Given the description of an element on the screen output the (x, y) to click on. 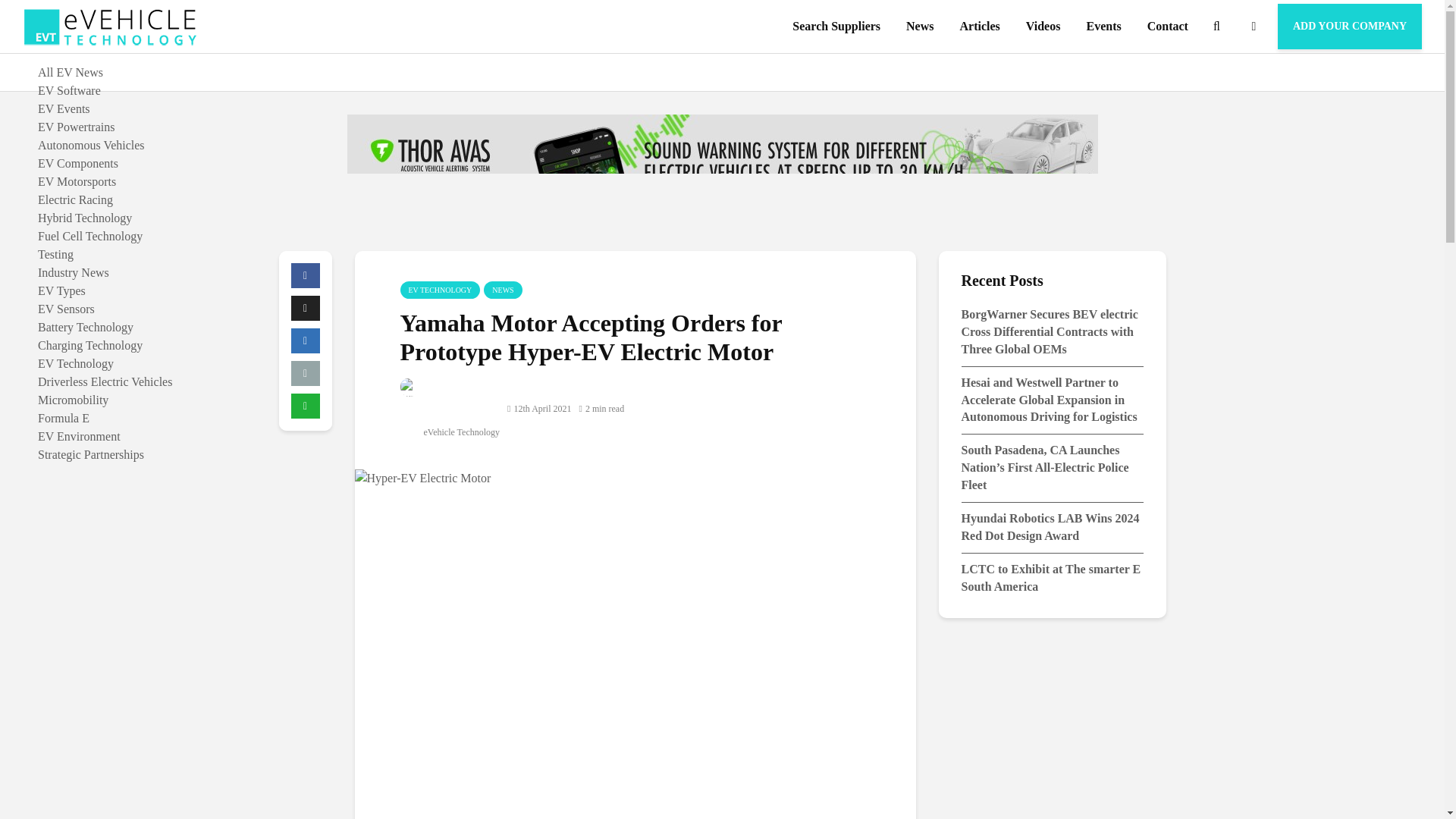
Articles (978, 26)
Industry News (73, 272)
ADD YOUR COMPANY (1350, 26)
EV Components (77, 163)
Driverless Electric Vehicles (104, 381)
acoustic vehicle alerting system (722, 171)
EV Motorsports (76, 181)
Fuel Cell Technology (89, 236)
Events (1103, 26)
Battery Technology (85, 327)
